Given the description of an element on the screen output the (x, y) to click on. 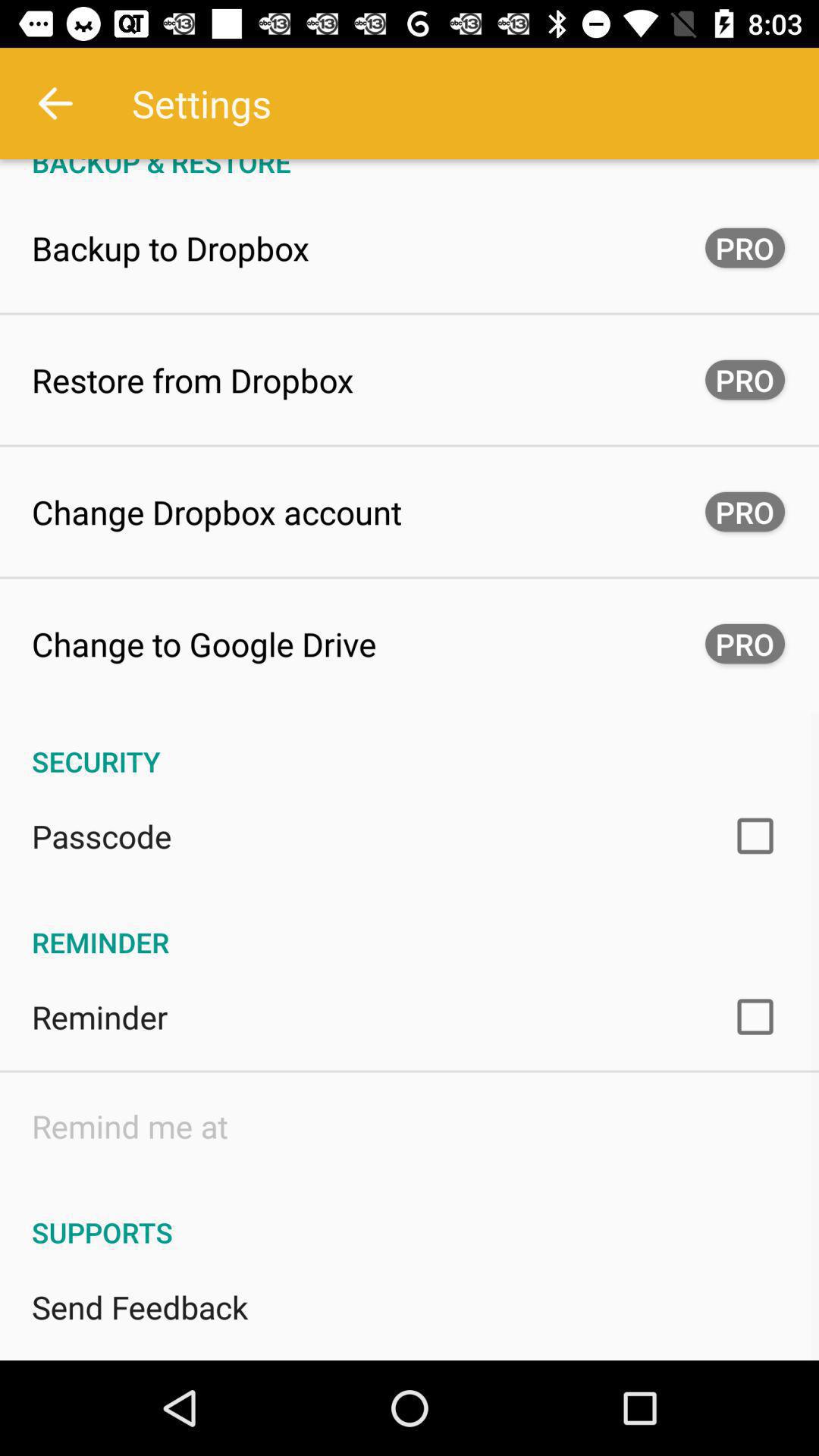
swipe until the change dropbox account app (216, 511)
